Given the description of an element on the screen output the (x, y) to click on. 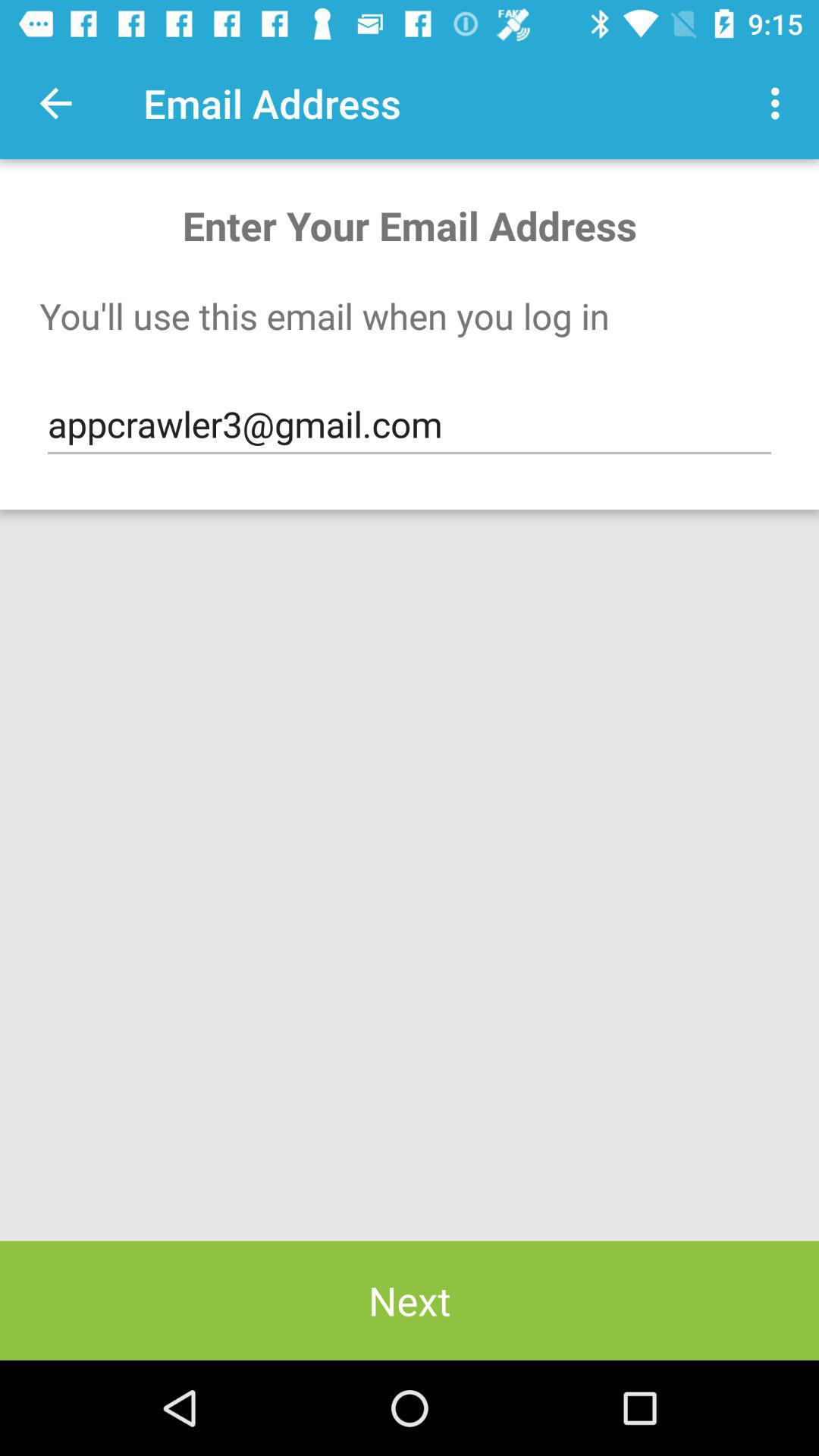
select the next icon (409, 1300)
